Given the description of an element on the screen output the (x, y) to click on. 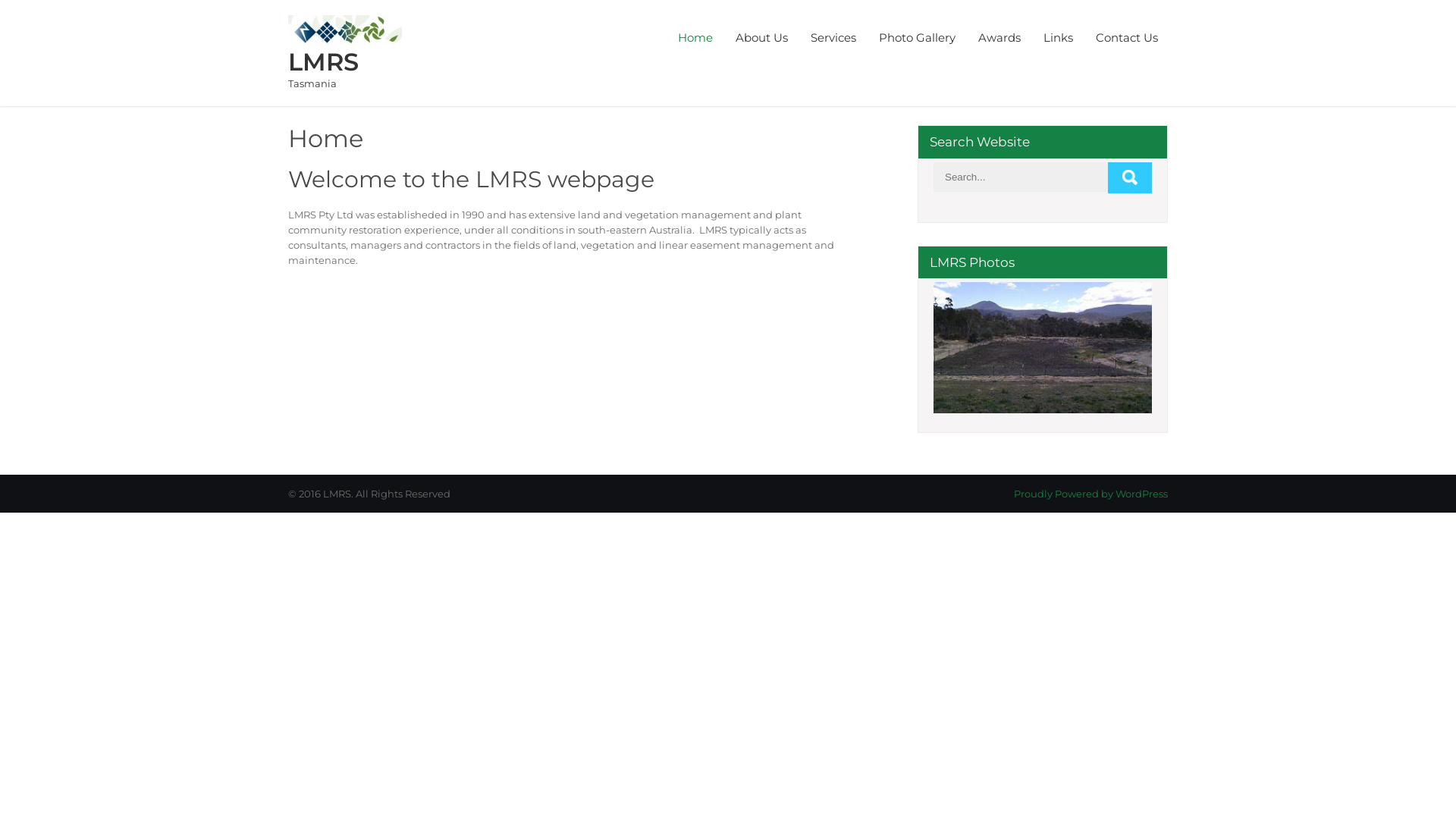
Contact Us Element type: text (1126, 37)
Proudly Powered by WordPress Element type: text (1090, 493)
Home Element type: text (695, 37)
Services Element type: text (833, 37)
Search Element type: text (1129, 177)
Links Element type: text (1057, 37)
LMRS Element type: text (323, 61)
About Us Element type: text (761, 37)
Awards Element type: text (999, 37)
Photo Gallery Element type: text (917, 37)
